Given the description of an element on the screen output the (x, y) to click on. 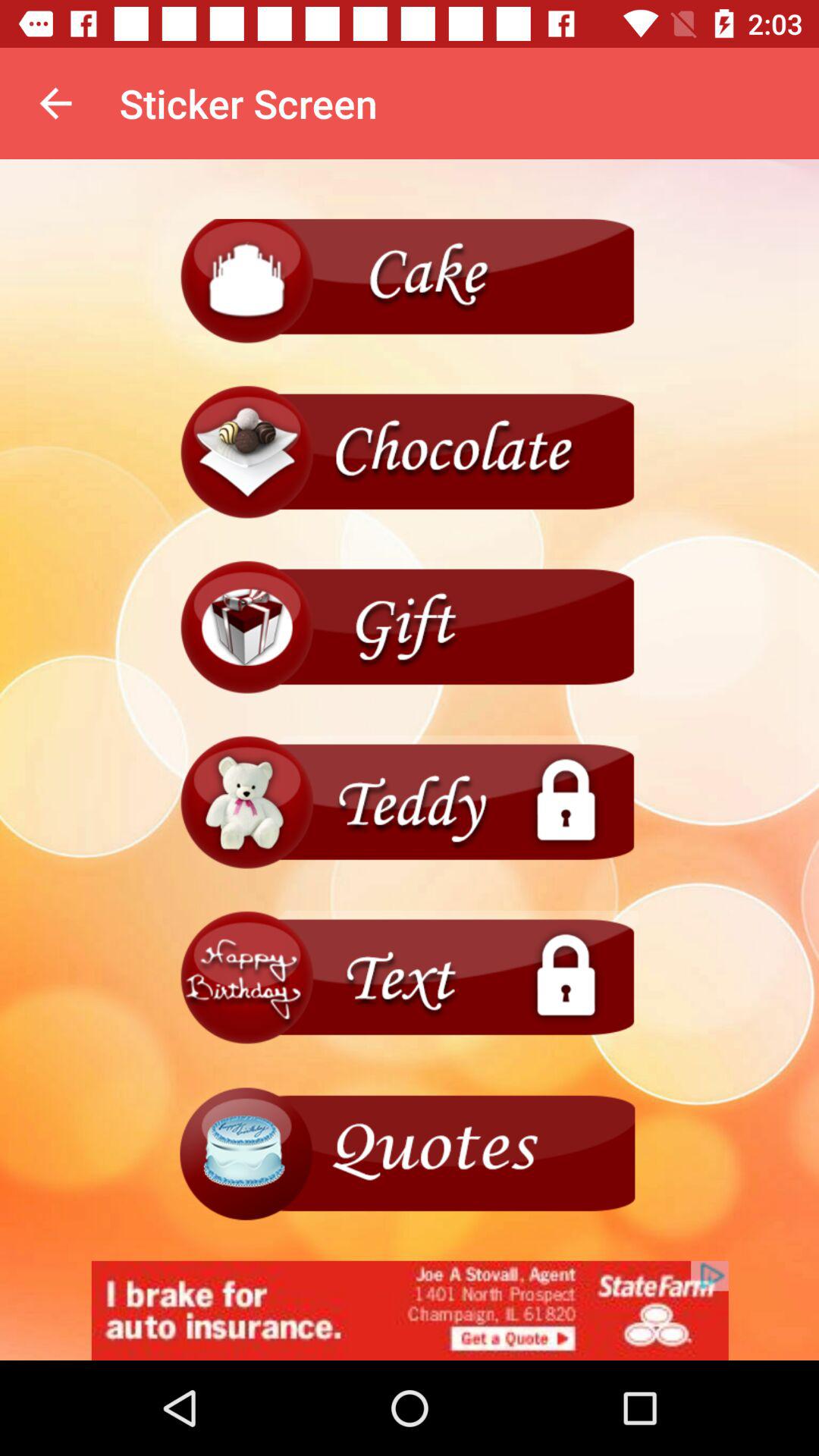
quotes (409, 1153)
